Given the description of an element on the screen output the (x, y) to click on. 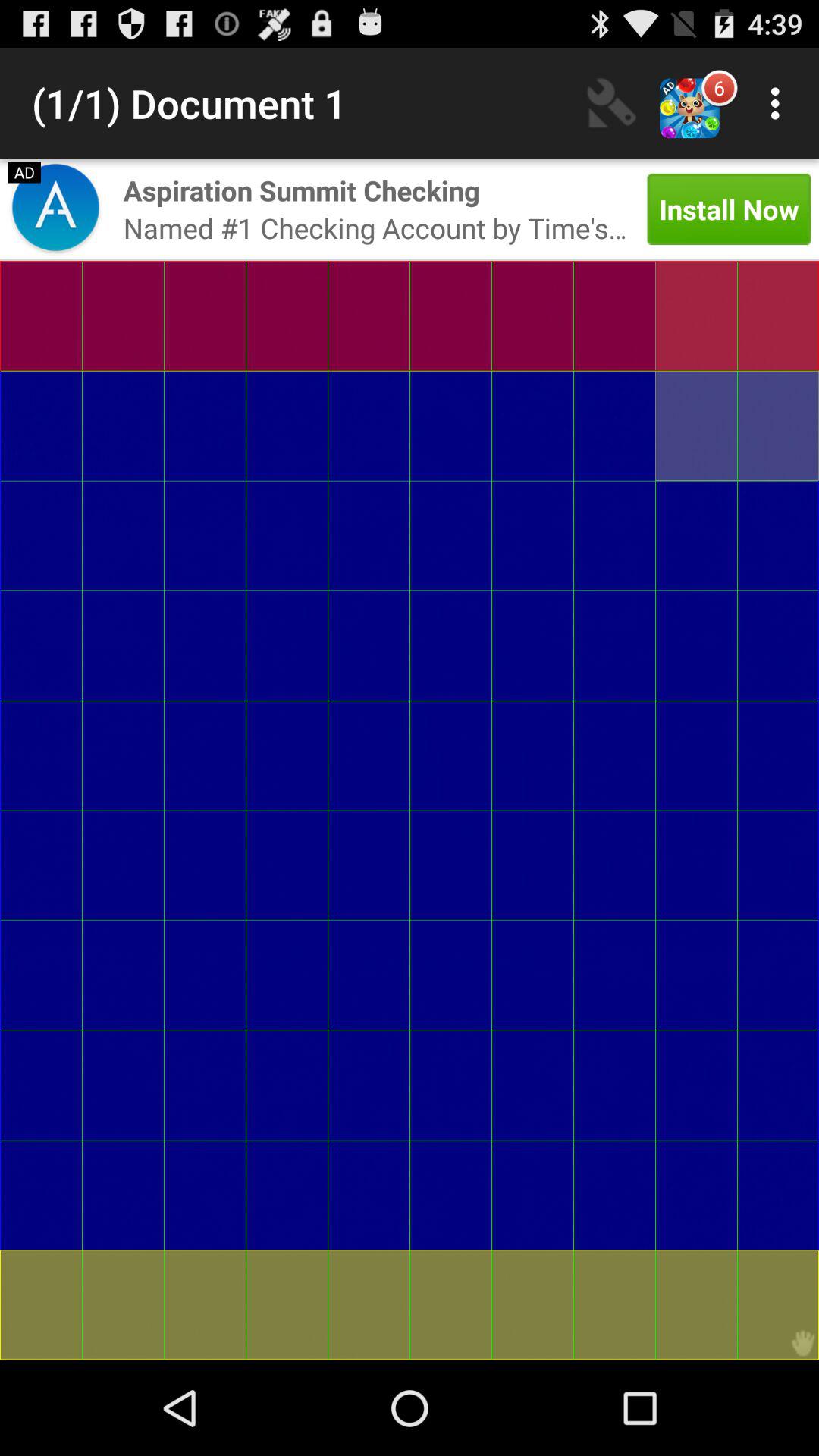
choose app below the aspiration summit checking app (375, 227)
